Given the description of an element on the screen output the (x, y) to click on. 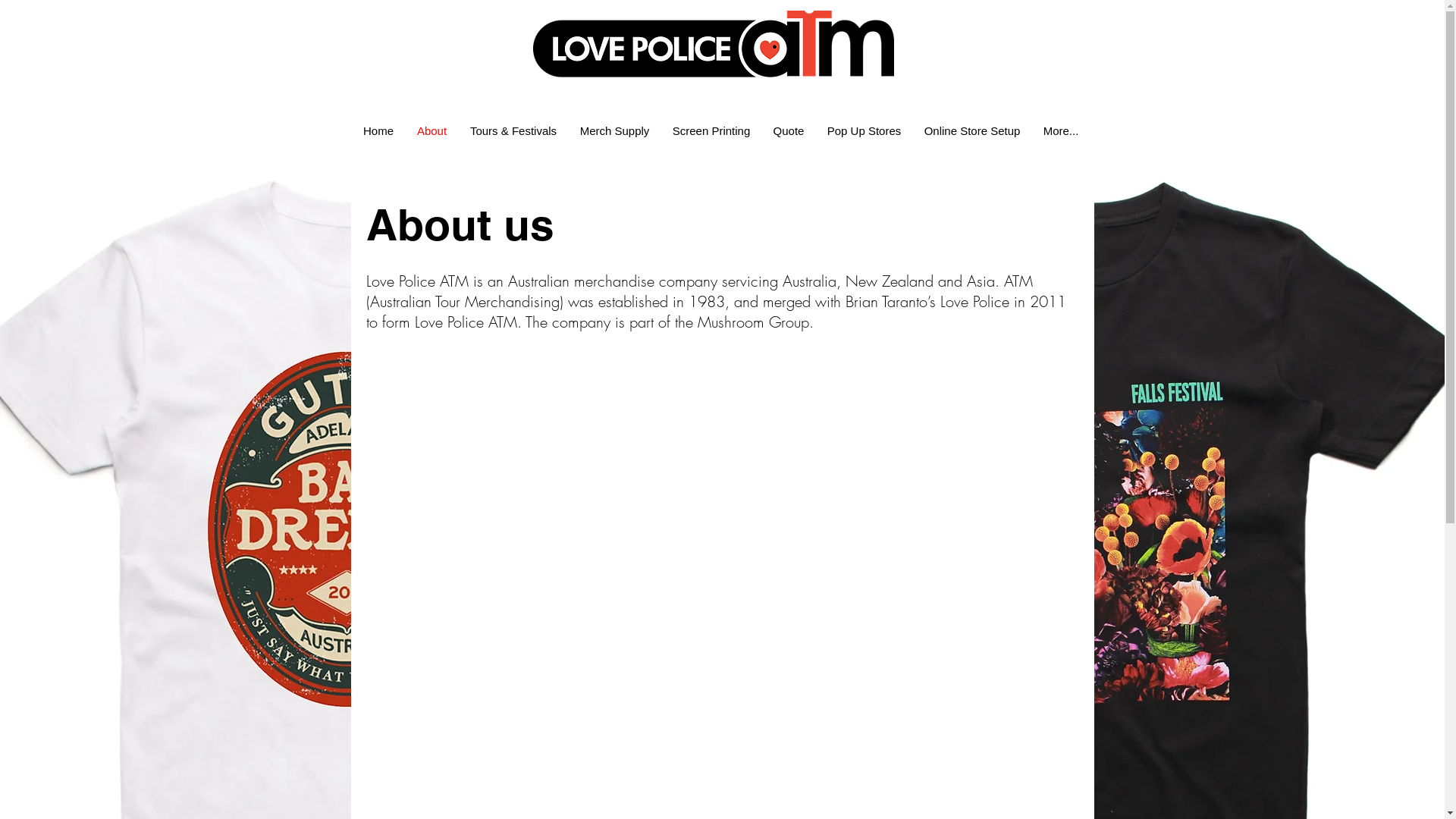
About Element type: text (431, 130)
Online Store Setup Element type: text (972, 130)
Tours & Festivals Element type: text (512, 130)
Screen Printing Element type: text (711, 130)
Home Element type: text (378, 130)
Pop Up Stores Element type: text (864, 130)
Quote Element type: text (788, 130)
Merch Supply Element type: text (614, 130)
